Given the description of an element on the screen output the (x, y) to click on. 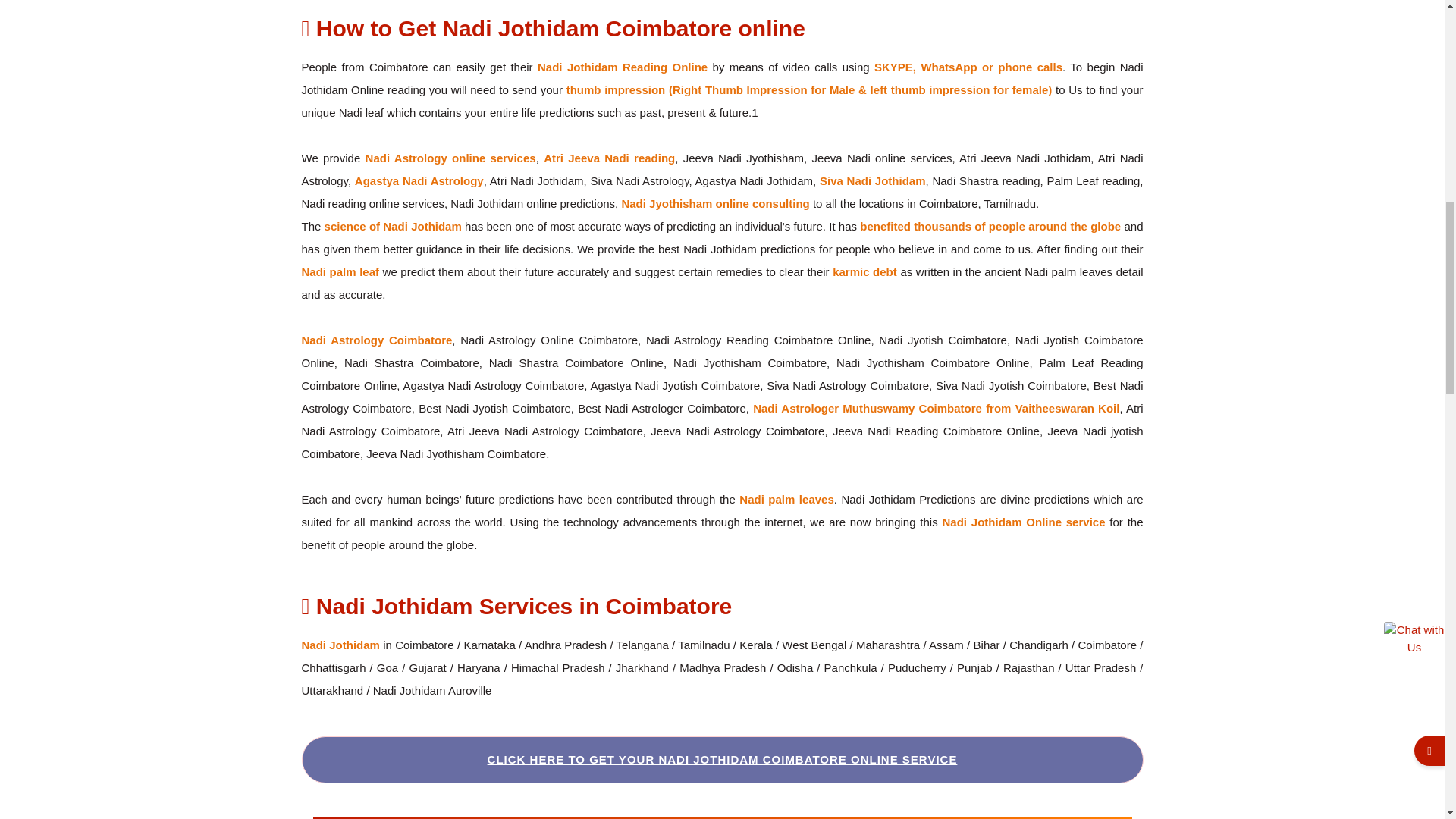
Click here to get your Nadi Jothidam Online Service (722, 758)
